Given the description of an element on the screen output the (x, y) to click on. 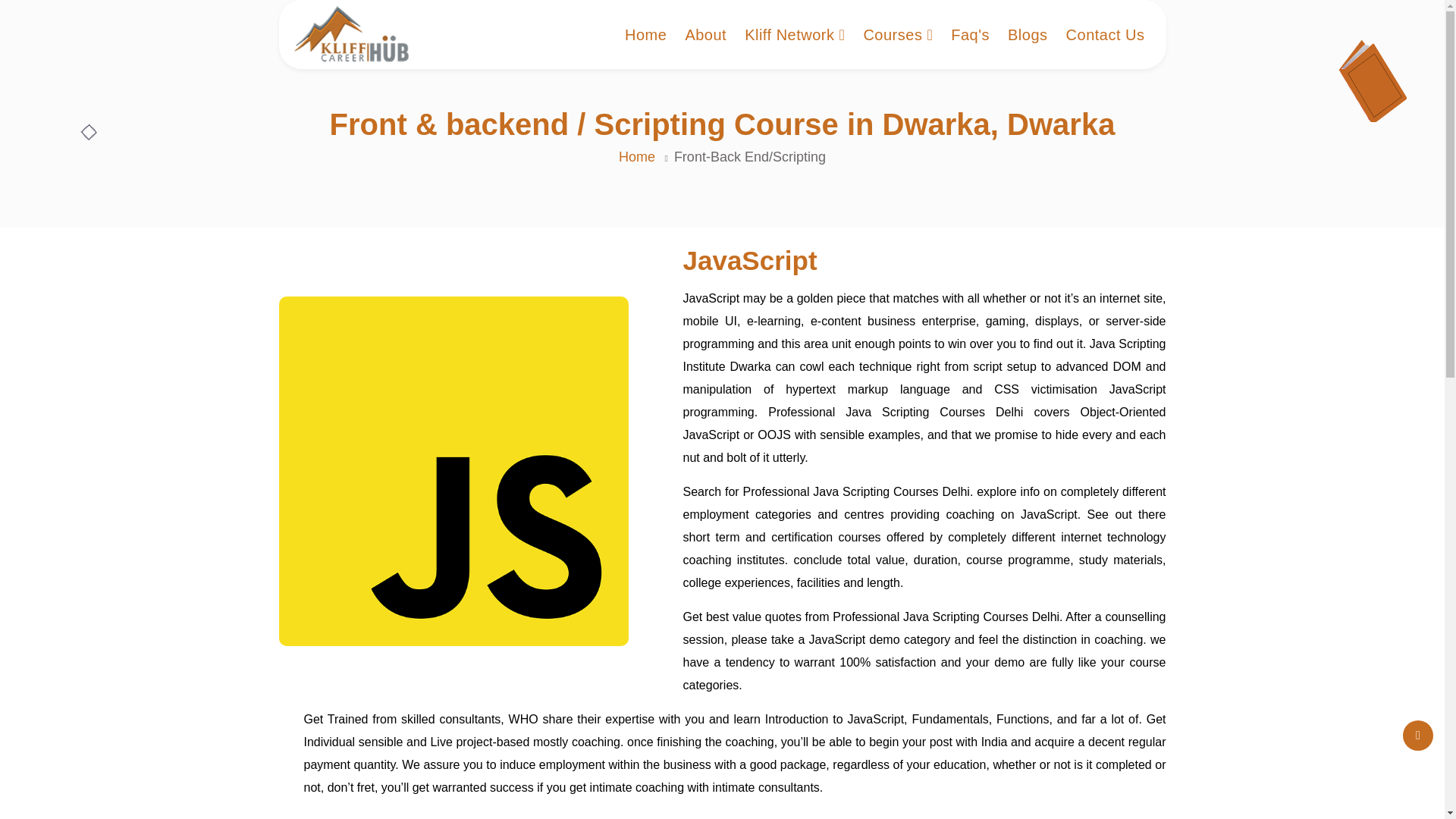
About (705, 34)
Courses (898, 34)
Kliff Network (794, 34)
Blogs (1027, 34)
Contact Us (1104, 34)
Home (636, 156)
Go to top (1417, 735)
Faq's (970, 34)
